Given the description of an element on the screen output the (x, y) to click on. 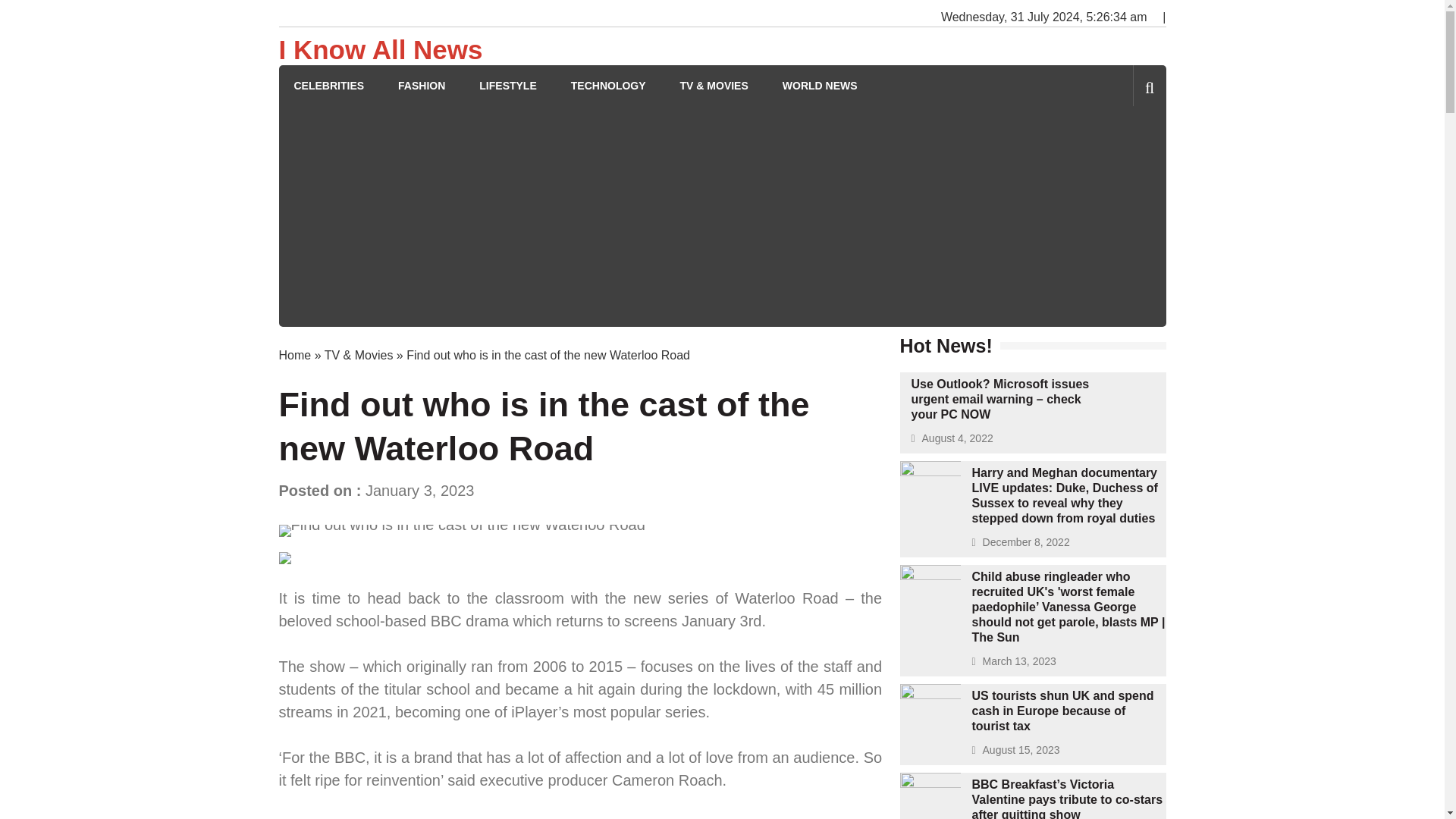
FASHION (421, 86)
Home (295, 354)
August 15, 2023 (1020, 749)
WORLD NEWS (820, 86)
March 13, 2023 (1019, 661)
January 3, 2023 (419, 490)
December 8, 2022 (1026, 541)
August 4, 2022 (956, 438)
I Know All News (381, 50)
LIFESTYLE (507, 86)
CELEBRITIES (329, 86)
Search (1123, 150)
